Given the description of an element on the screen output the (x, y) to click on. 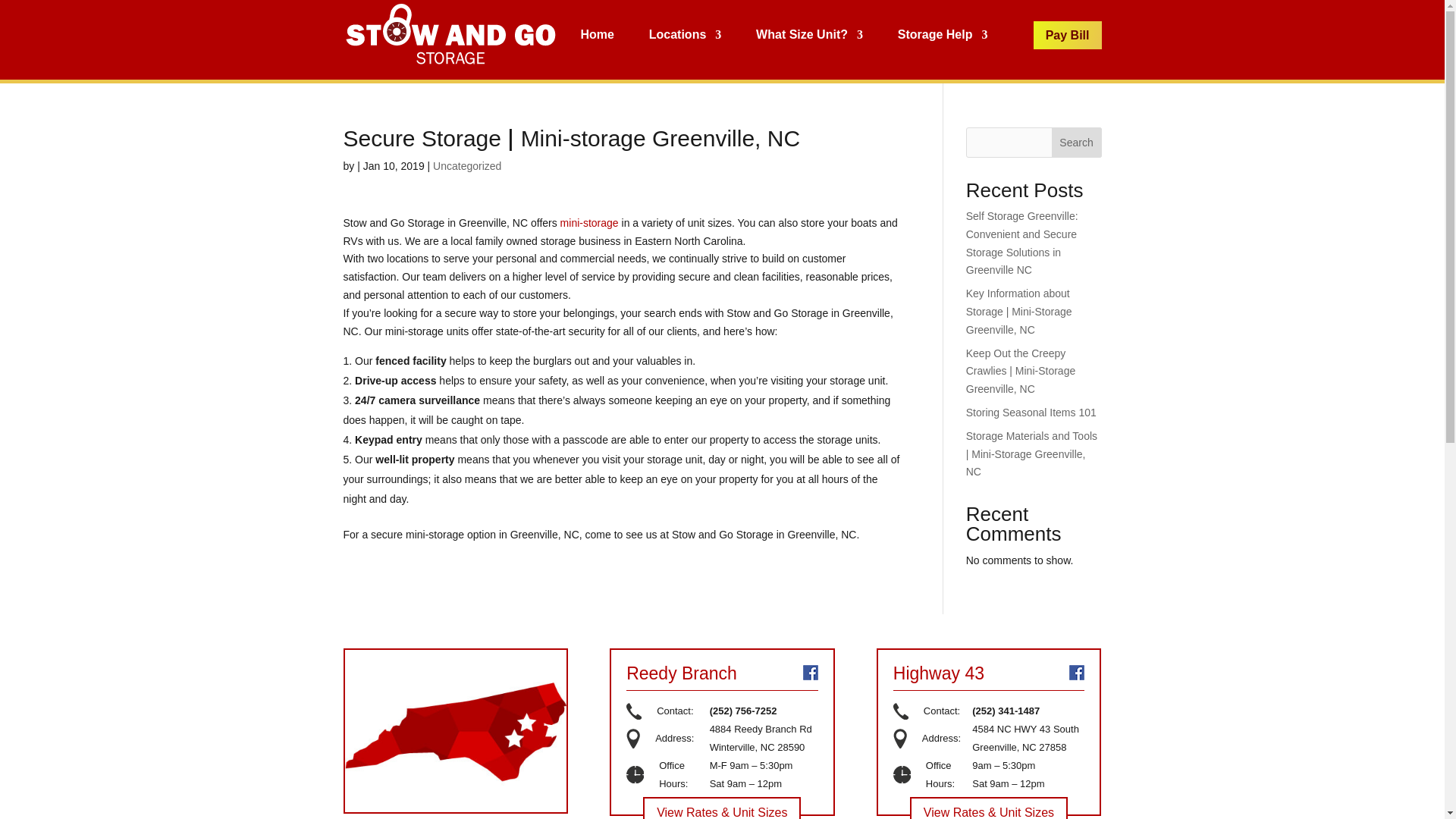
Locations (685, 34)
Storing Seasonal Items 101 (1031, 412)
mini-storage (590, 223)
Search (1076, 142)
Storage Help (943, 34)
What Size Unit? (809, 34)
Pay Bill (1067, 35)
Uncategorized (466, 165)
